Given the description of an element on the screen output the (x, y) to click on. 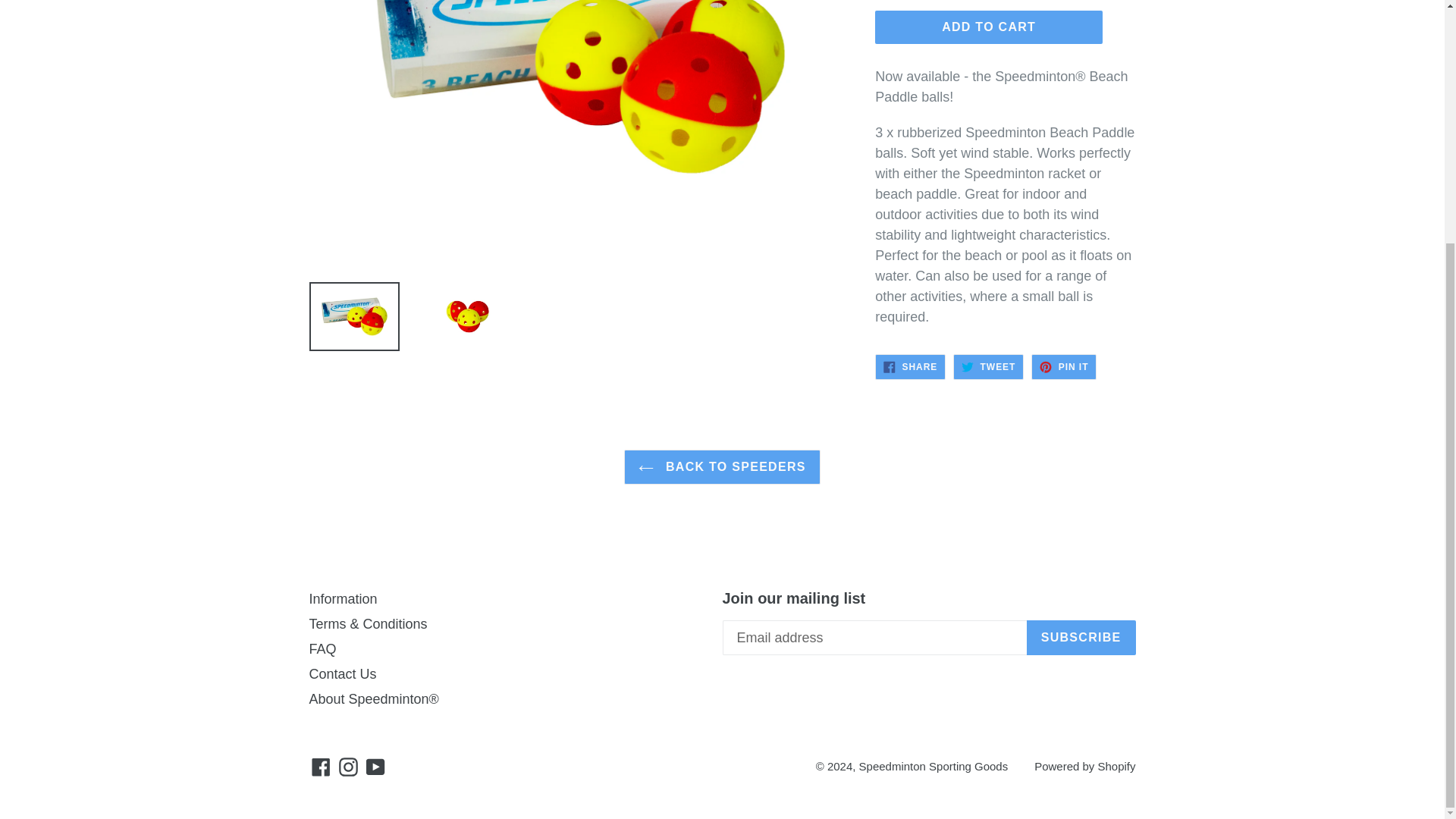
Pin on Pinterest (1063, 366)
ADD TO CART (988, 366)
BACK TO SPEEDERS (988, 27)
Tweet on Twitter (721, 466)
Speedminton Sporting Goods on YouTube (988, 366)
Speedminton Sporting Goods on Facebook (1063, 366)
Share on Facebook (375, 766)
